Given the description of an element on the screen output the (x, y) to click on. 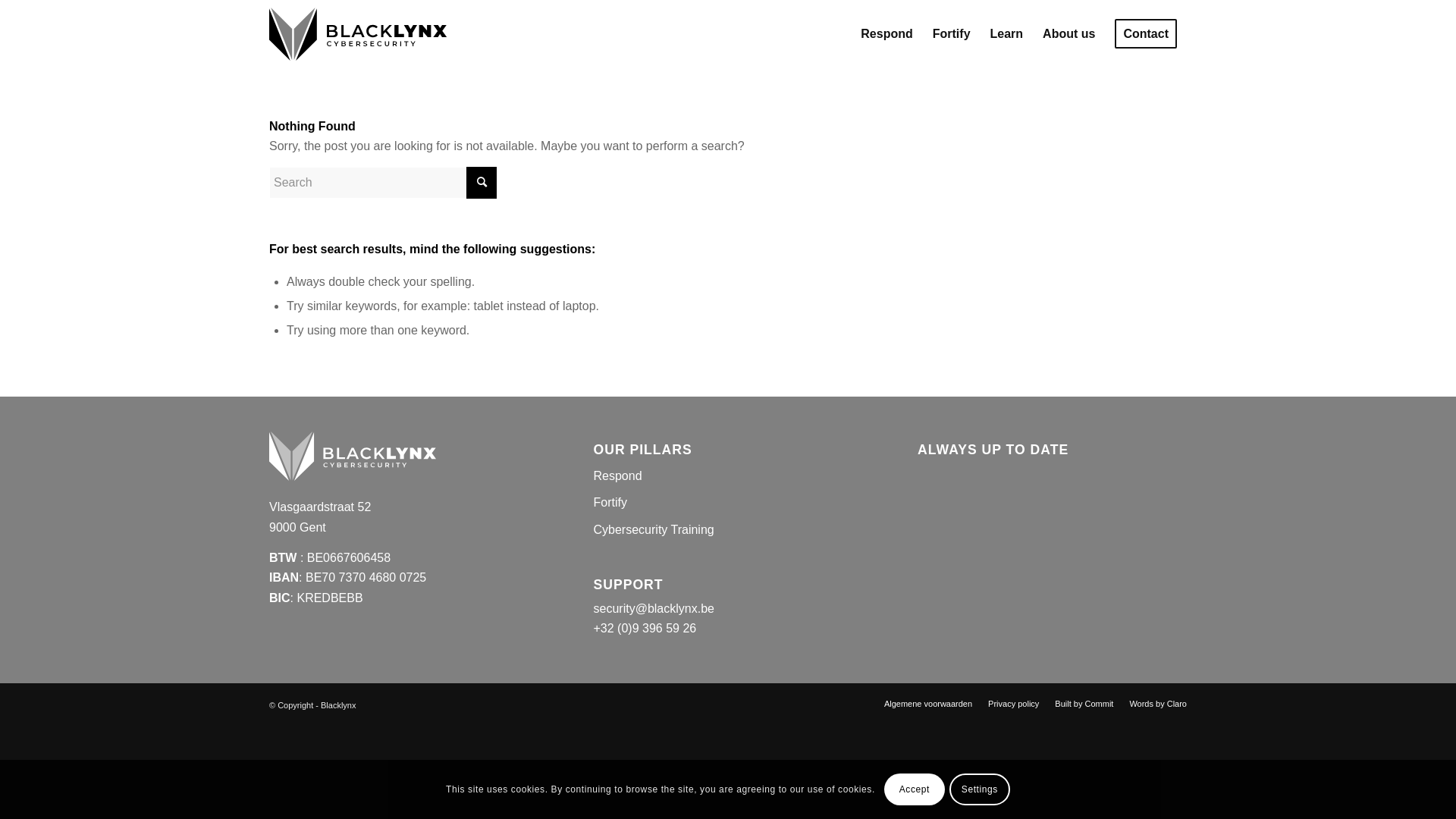
Respond Element type: text (886, 34)
+32 (0)9 396 59 26 Element type: text (644, 627)
Respond Element type: text (727, 476)
About us Element type: text (1068, 34)
Contact Element type: text (1145, 34)
Fortify Element type: text (727, 502)
Privacy policy Element type: text (1013, 703)
Built by Commit Element type: text (1083, 703)
Fortify Element type: text (951, 34)
Cybersecurity Training Element type: text (727, 530)
Settings Element type: text (979, 789)
Words by Claro Element type: text (1157, 703)
Learn Element type: text (1006, 34)
Algemene voorwaarden Element type: text (928, 703)
security@blacklynx.be Element type: text (653, 608)
Accept Element type: text (914, 789)
